Given the description of an element on the screen output the (x, y) to click on. 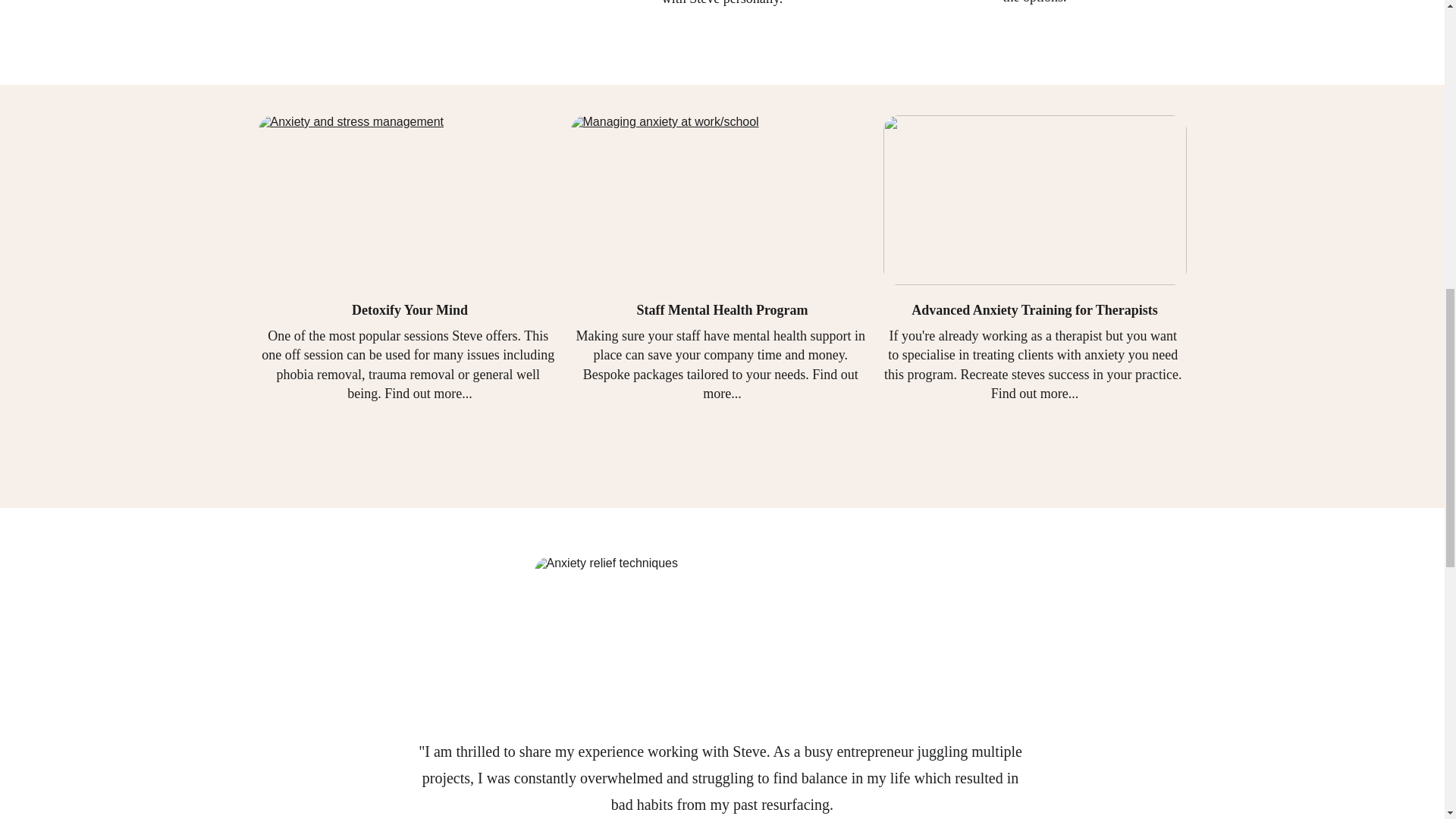
Anxiety and stress management (408, 200)
Anxiety relief techniques (692, 635)
